Given the description of an element on the screen output the (x, y) to click on. 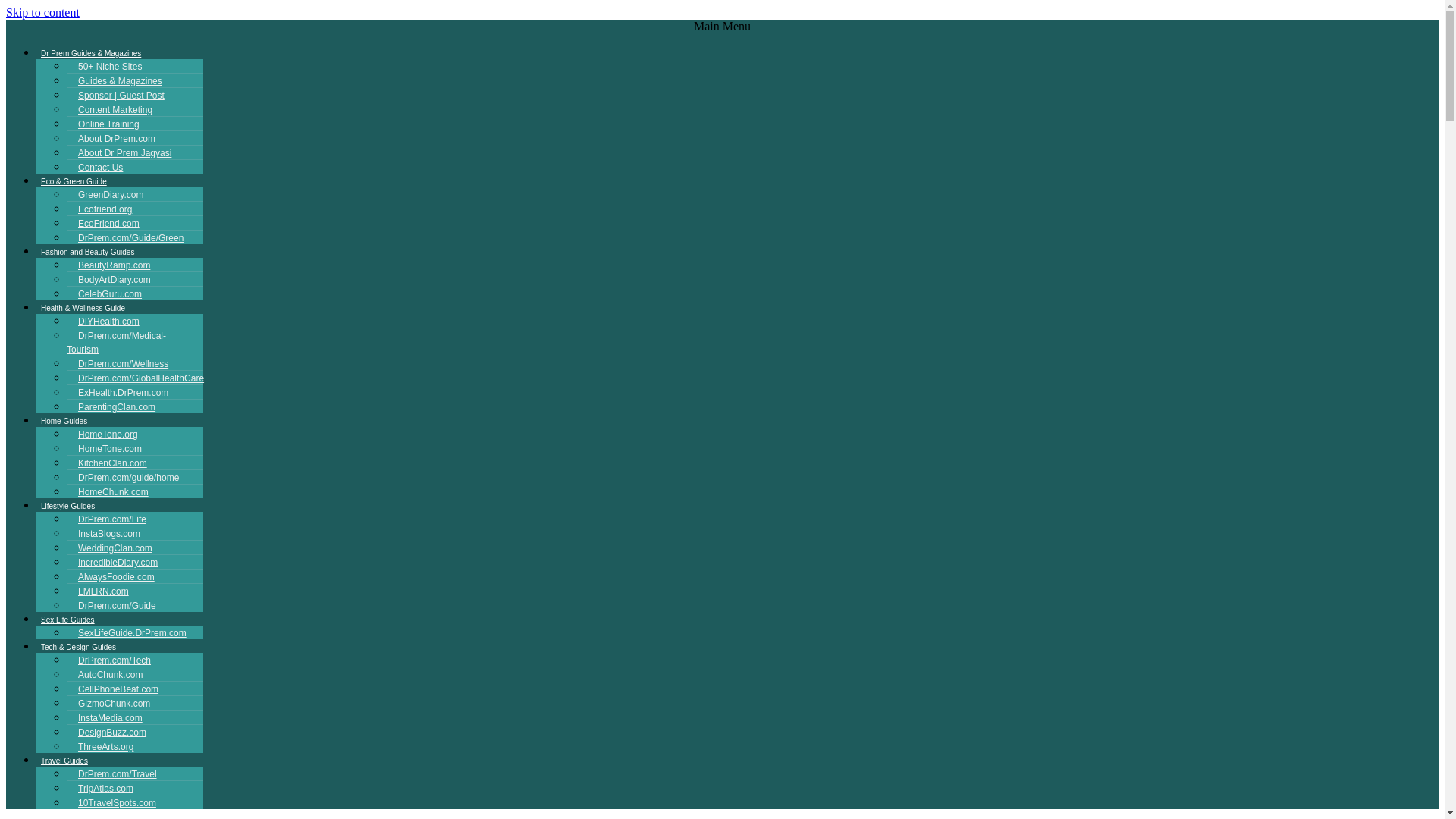
BodyArtDiary.com (113, 279)
IncredibleDiary.com (117, 562)
InstaBlogs.com (108, 533)
Fashion and Beauty Guides (87, 251)
Home Guides (63, 420)
DIYHealth.com (108, 321)
KitchenClan.com (112, 462)
ExHealth.DrPrem.com (122, 392)
ParentingClan.com (116, 407)
Ecofriend.org (104, 209)
GreenDiary.com (110, 194)
Online Training (108, 123)
HomeChunk.com (113, 491)
Lifestyle Guides (67, 505)
CelebGuru.com (109, 294)
